Given the description of an element on the screen output the (x, y) to click on. 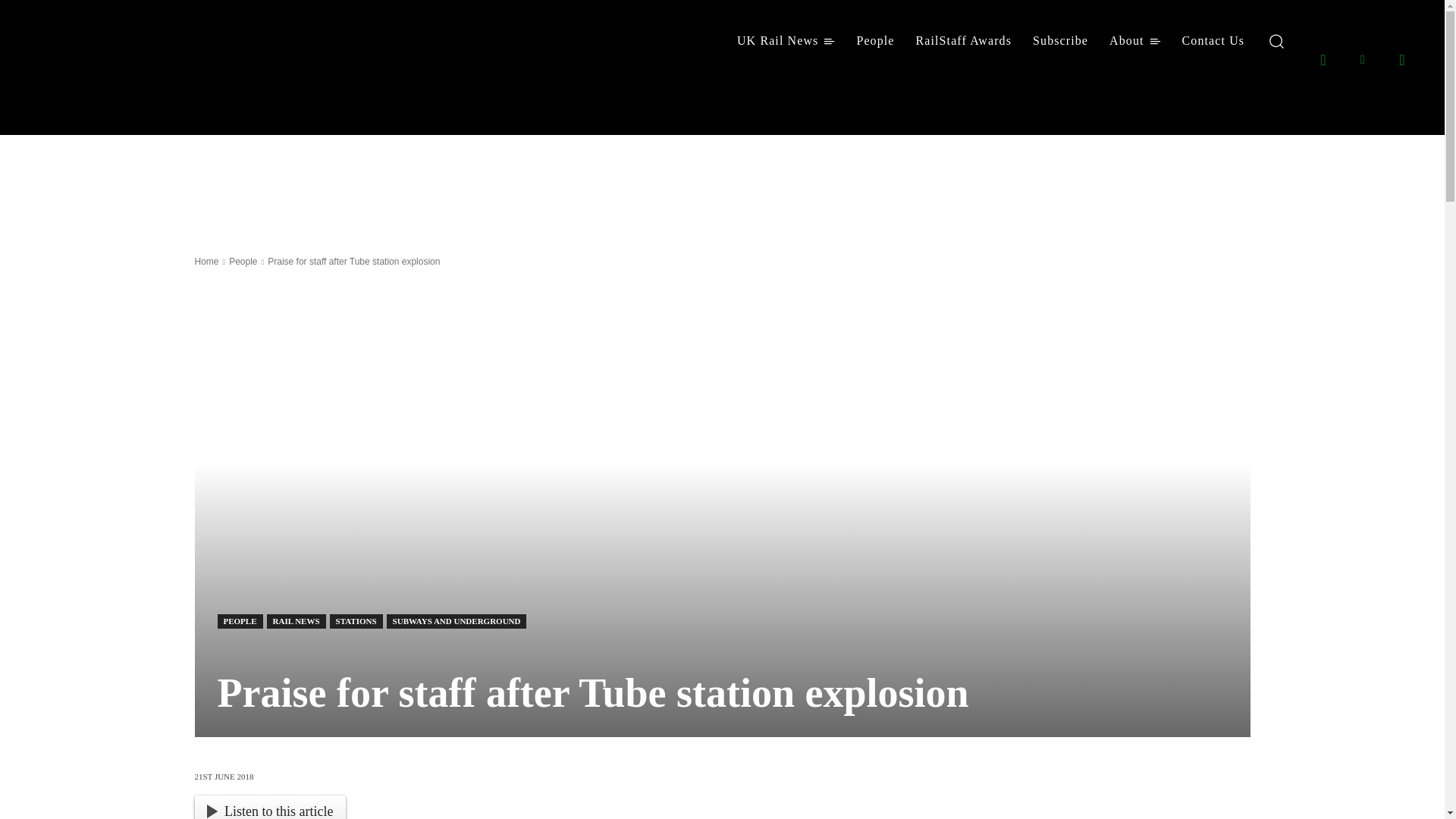
Linkedin (1361, 58)
Twitter (1401, 58)
UK Rail News (785, 40)
People (874, 40)
Facebook (1322, 58)
View all posts in People (242, 261)
